Given the description of an element on the screen output the (x, y) to click on. 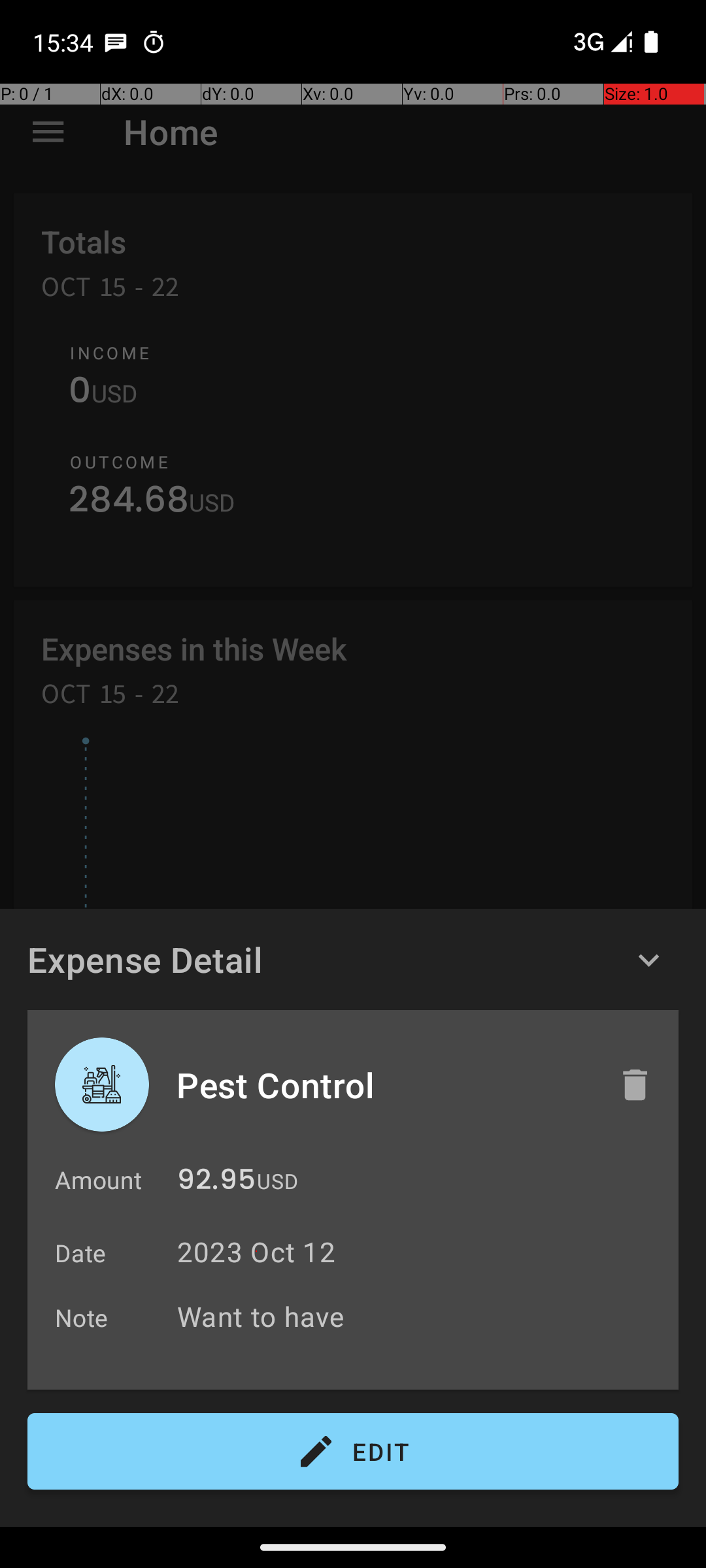
92.95 Element type: android.widget.TextView (216, 1182)
